Given the description of an element on the screen output the (x, y) to click on. 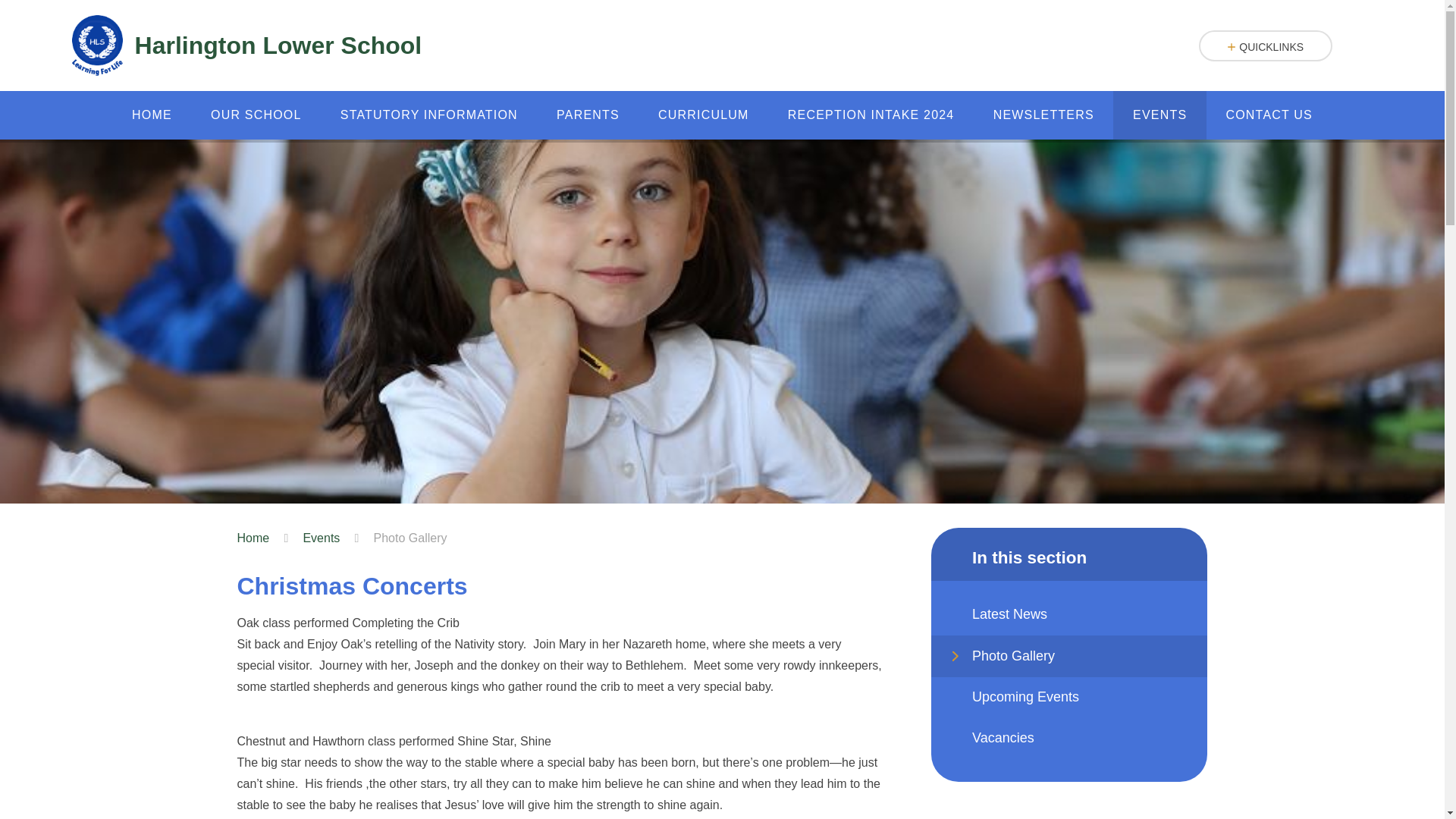
STATUTORY INFORMATION (428, 114)
Harlington Lower School (246, 45)
HOME (151, 114)
OUR SCHOOL (255, 114)
